Given the description of an element on the screen output the (x, y) to click on. 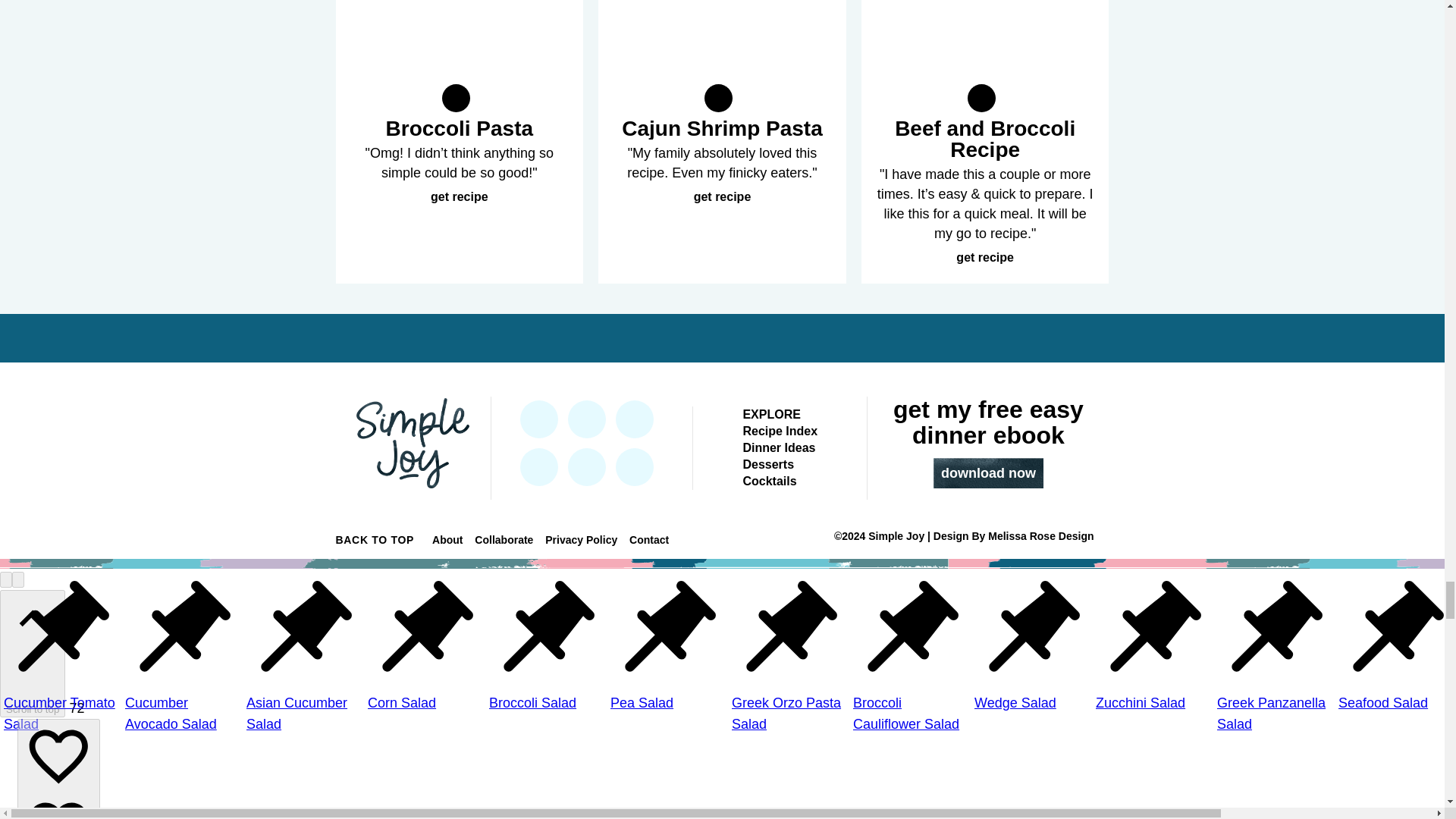
Cocktails (769, 481)
Desserts (767, 463)
Recipe Index (779, 431)
Dinner Ideas (778, 447)
